Given the description of an element on the screen output the (x, y) to click on. 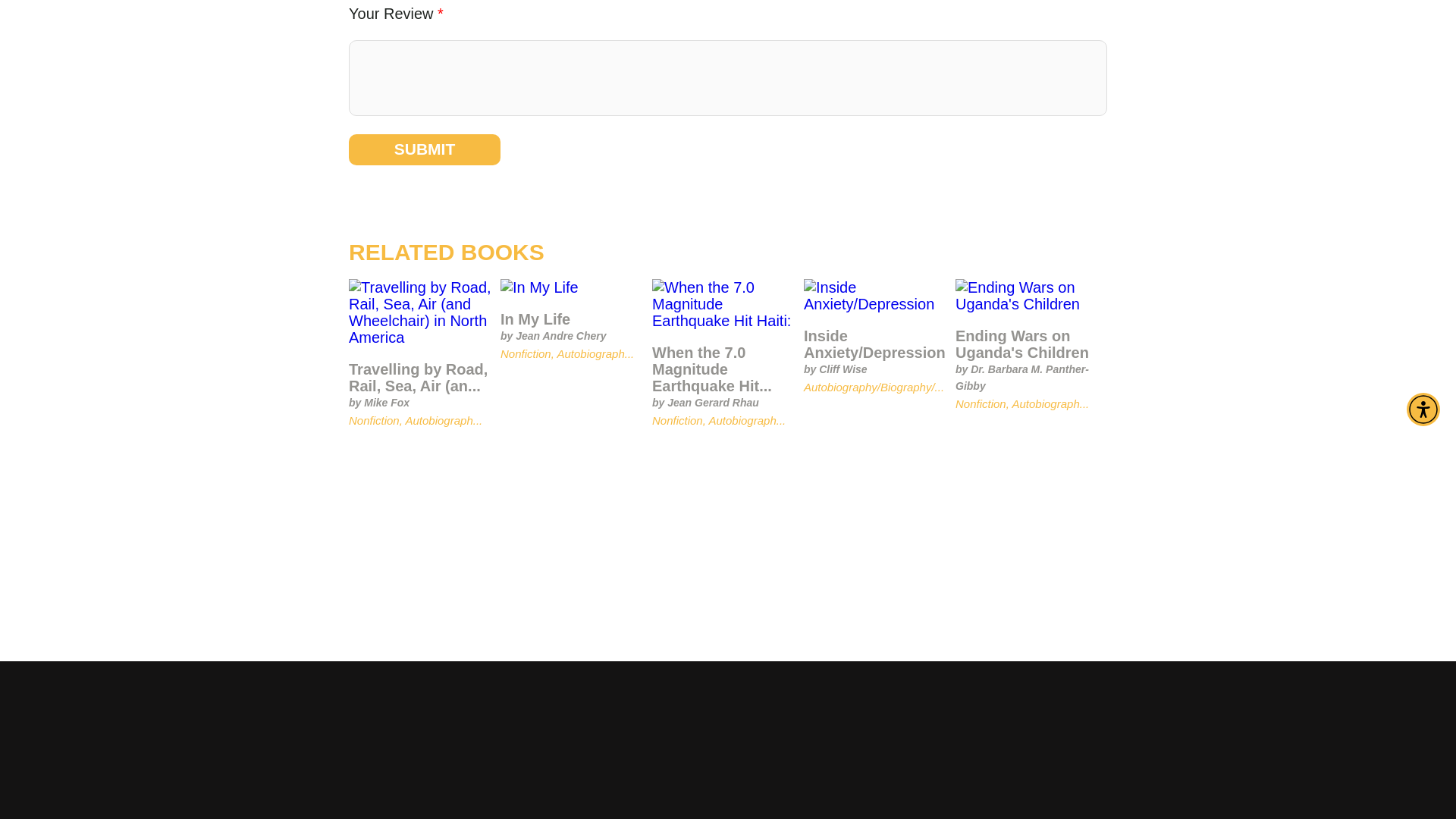
SUBMIT (424, 148)
SUBMIT (424, 148)
